Given the description of an element on the screen output the (x, y) to click on. 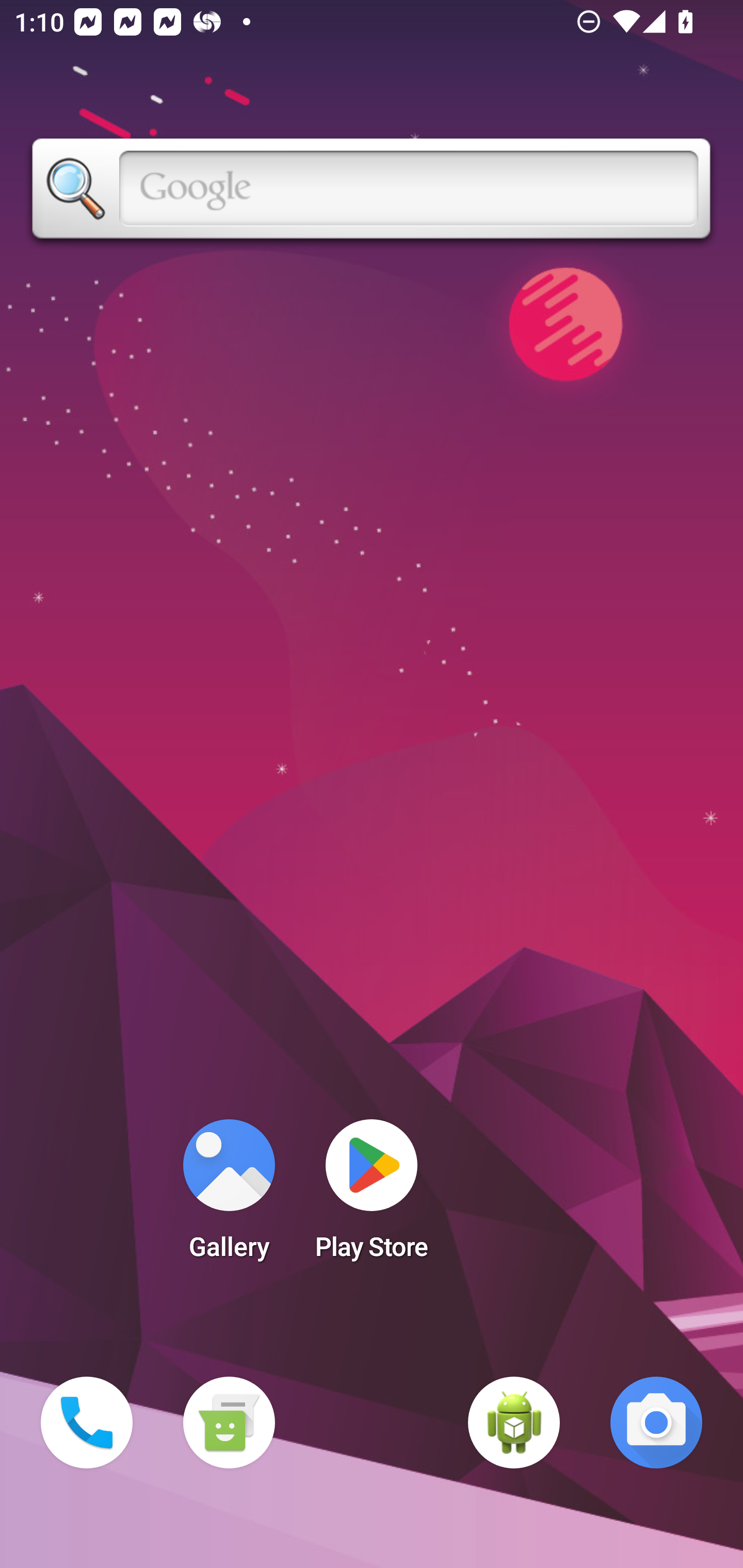
Gallery (228, 1195)
Play Store (371, 1195)
Phone (86, 1422)
Messaging (228, 1422)
WebView Browser Tester (513, 1422)
Camera (656, 1422)
